Given the description of an element on the screen output the (x, y) to click on. 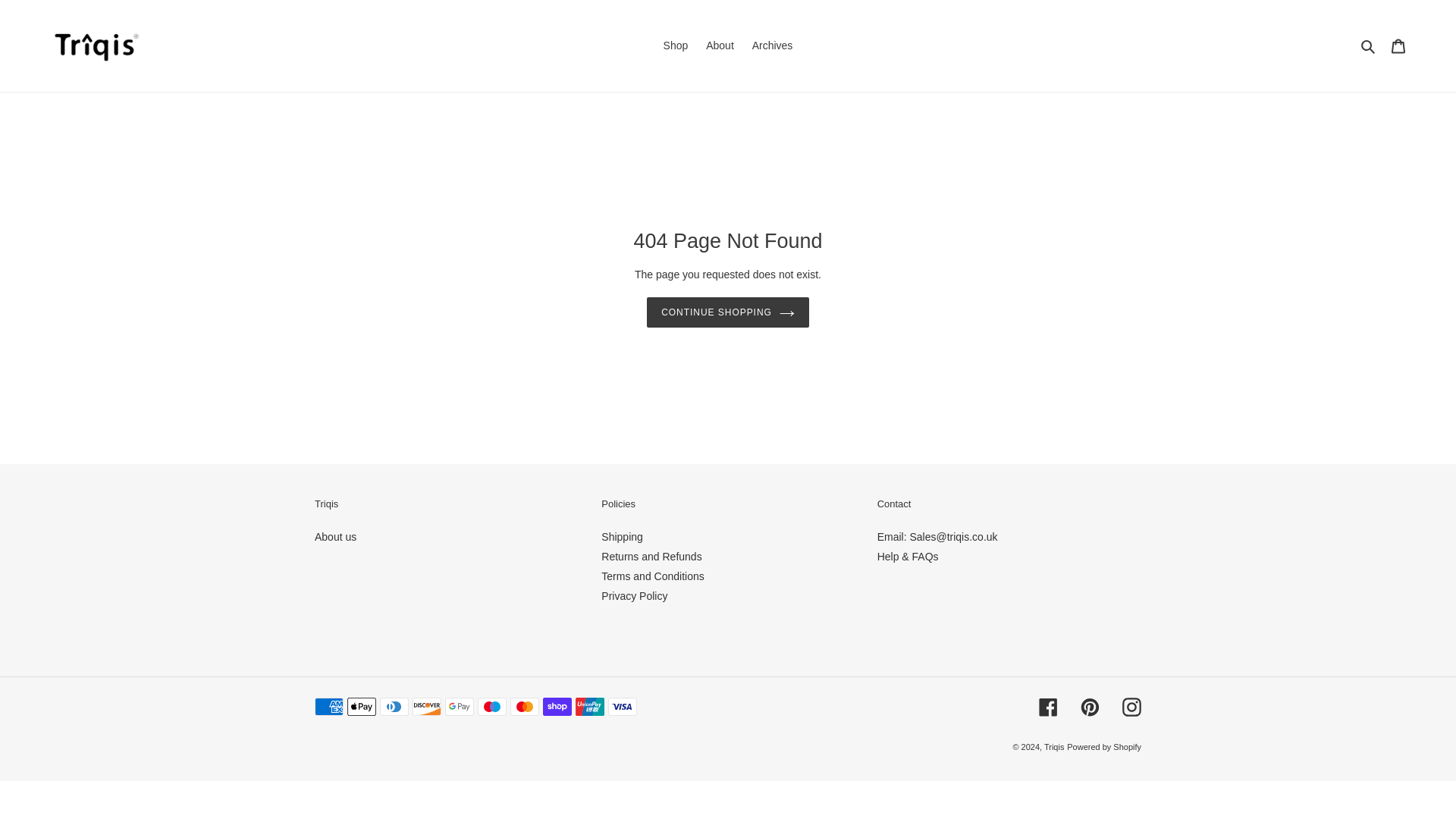
Instagram (1131, 706)
About us (335, 536)
About (719, 46)
Terms and Conditions (652, 576)
Search (1368, 45)
Archives (772, 46)
Triqis (1053, 746)
Pinterest (1089, 706)
Facebook (1048, 706)
Powered by Shopify (1104, 746)
